Given the description of an element on the screen output the (x, y) to click on. 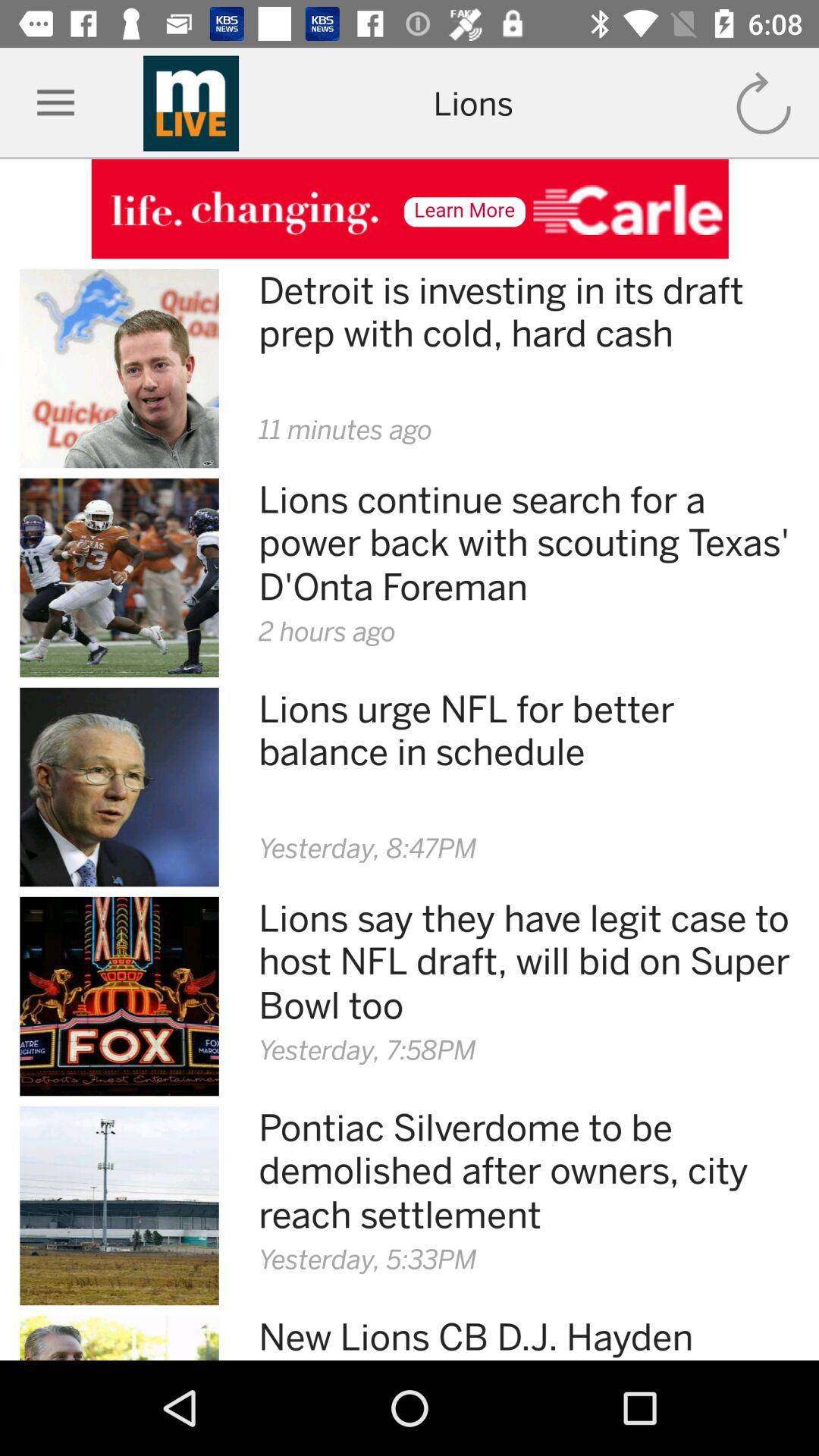
adsto watch (409, 208)
